Given the description of an element on the screen output the (x, y) to click on. 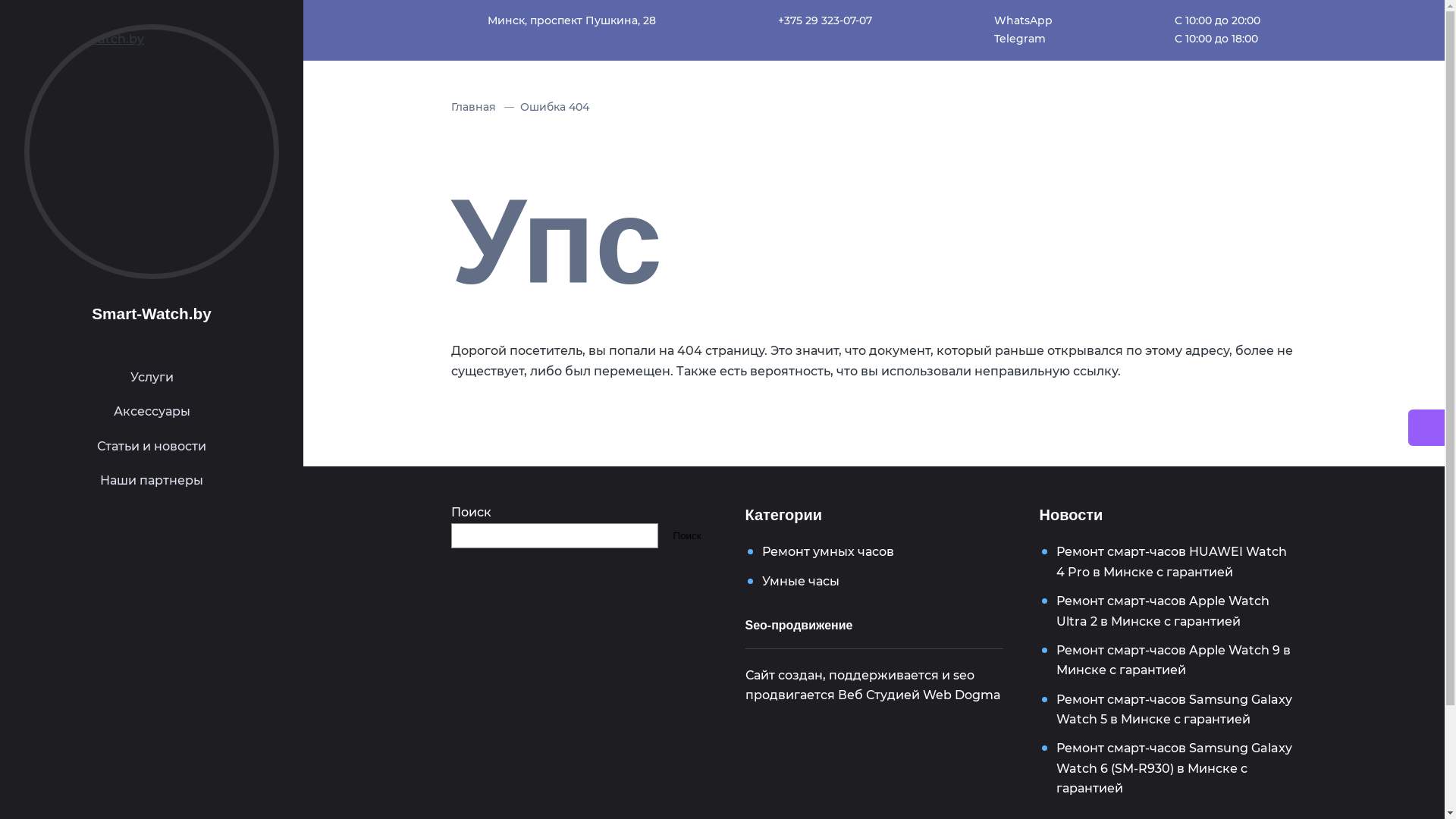
Telegram Element type: text (1022, 39)
WhatsApp Element type: text (1022, 21)
Smart-Watch.by Element type: text (151, 313)
+375 29 323-07-07 Element type: text (825, 21)
